Given the description of an element on the screen output the (x, y) to click on. 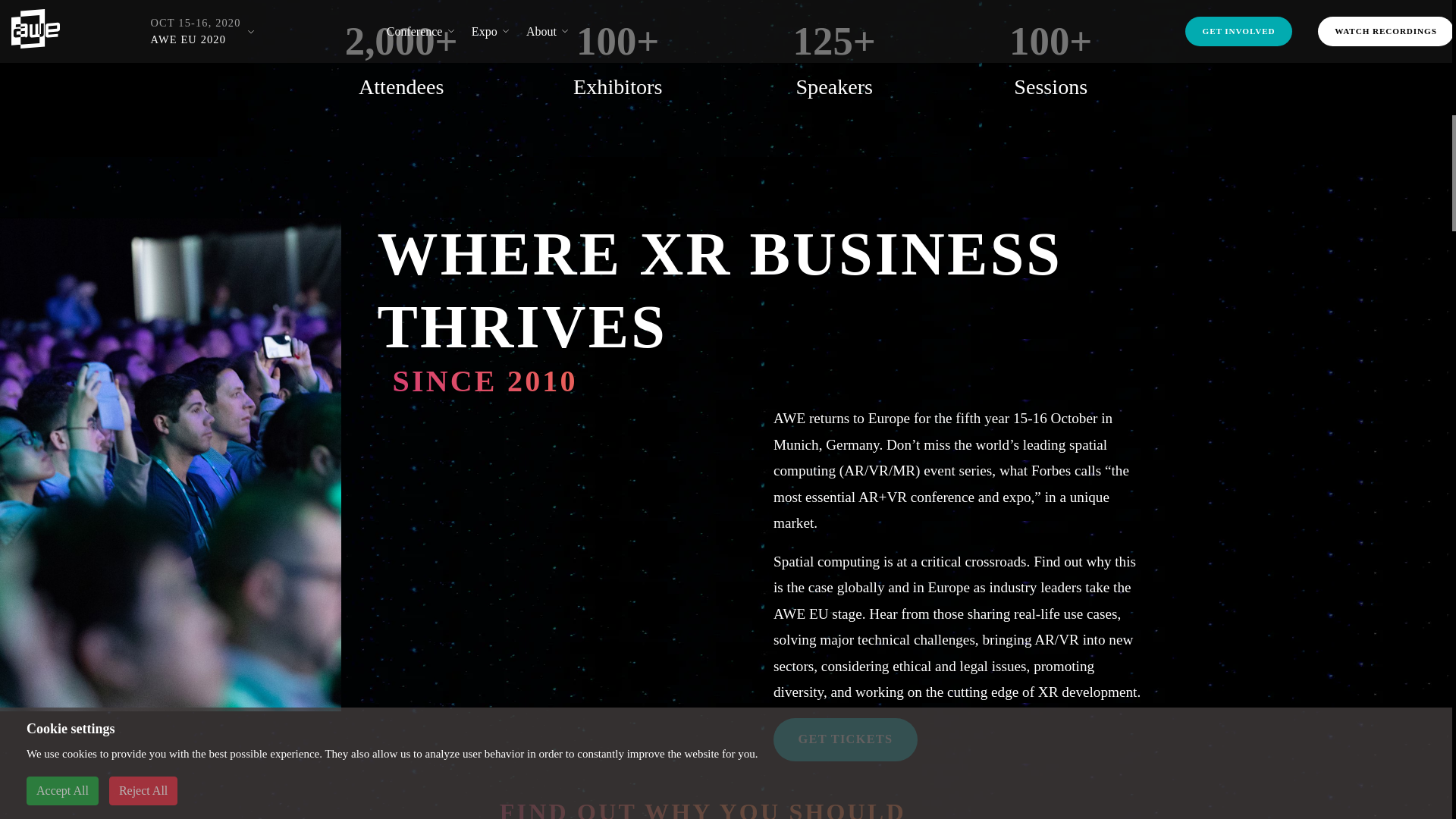
GET TICKETS (845, 739)
